Given the description of an element on the screen output the (x, y) to click on. 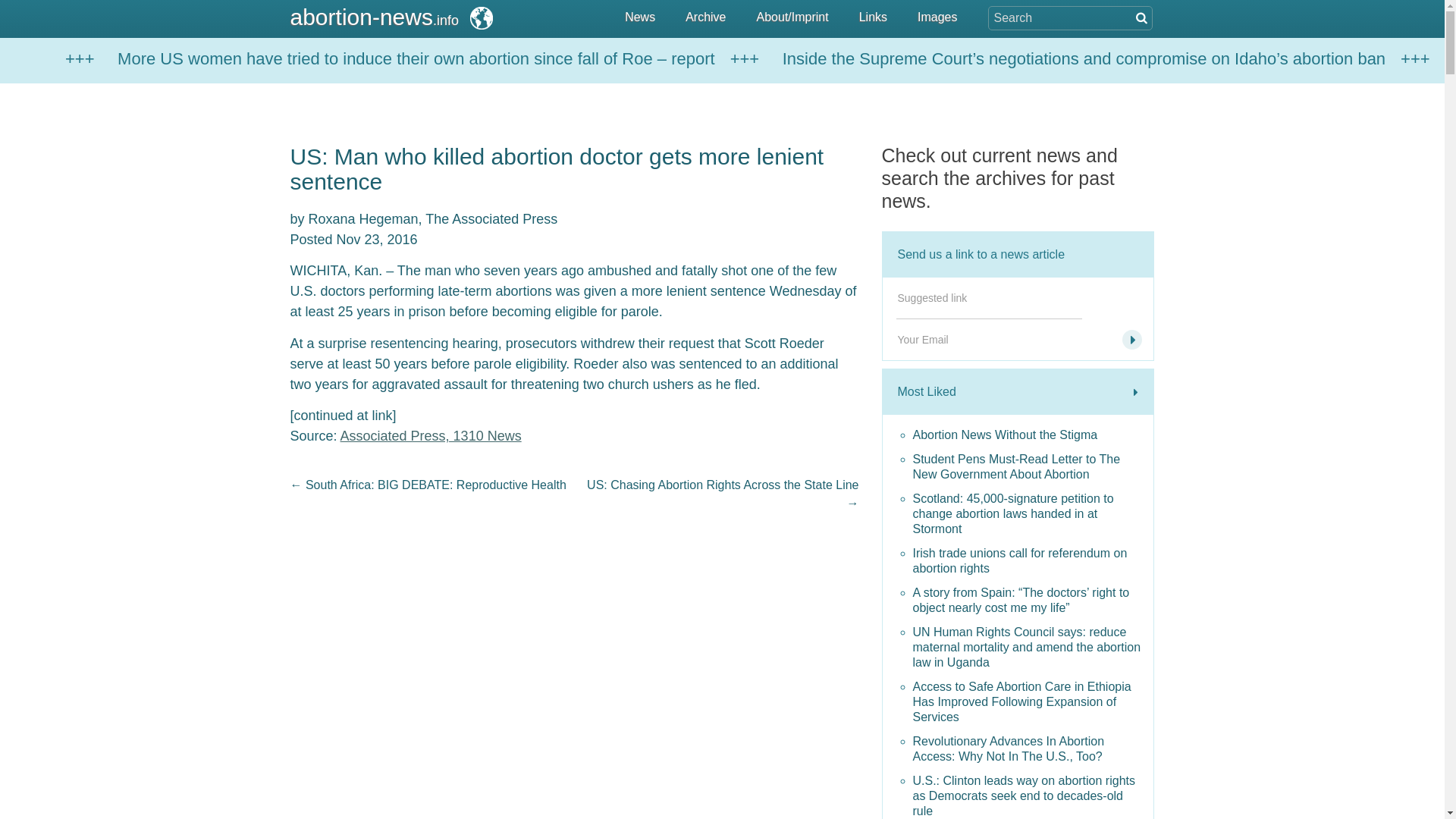
Advanced Search (1139, 17)
Archive (705, 18)
Search (77, 9)
abortion-news.info (392, 17)
irish-trade-unions-call-for-referendum-on-abortion-rights (1029, 561)
Images (937, 18)
abortion-news-without-the-stigma (1029, 435)
News (639, 18)
